Given the description of an element on the screen output the (x, y) to click on. 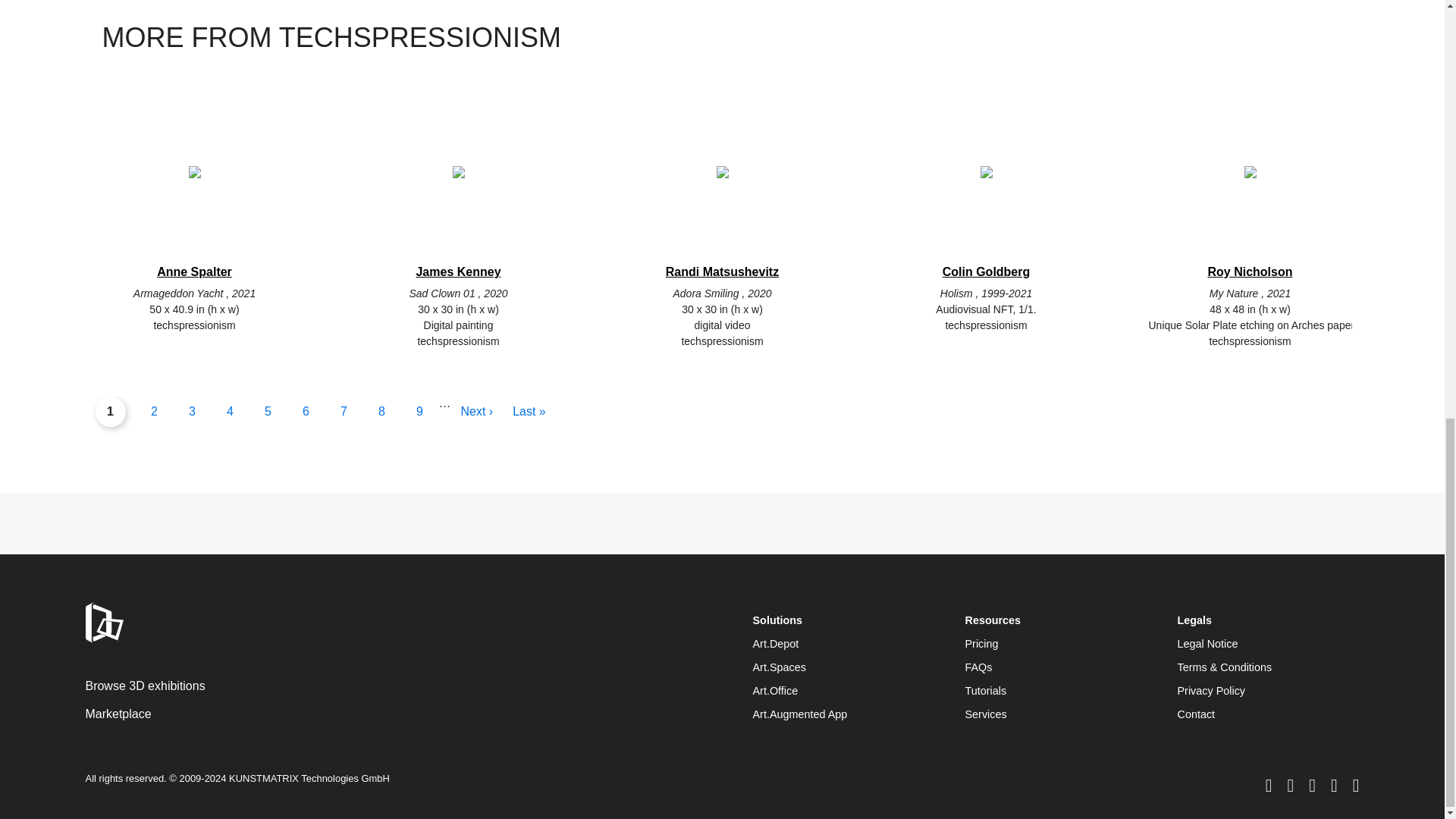
Go to page 3 (192, 411)
Go to page 2 (154, 411)
Go to page 8 (381, 411)
Go to page 4 (230, 411)
Go to page 5 (268, 411)
Go to page 7 (344, 411)
Go to last page (528, 411)
Go to next page (476, 411)
Go to page 6 (306, 411)
Current page (110, 411)
